Given the description of an element on the screen output the (x, y) to click on. 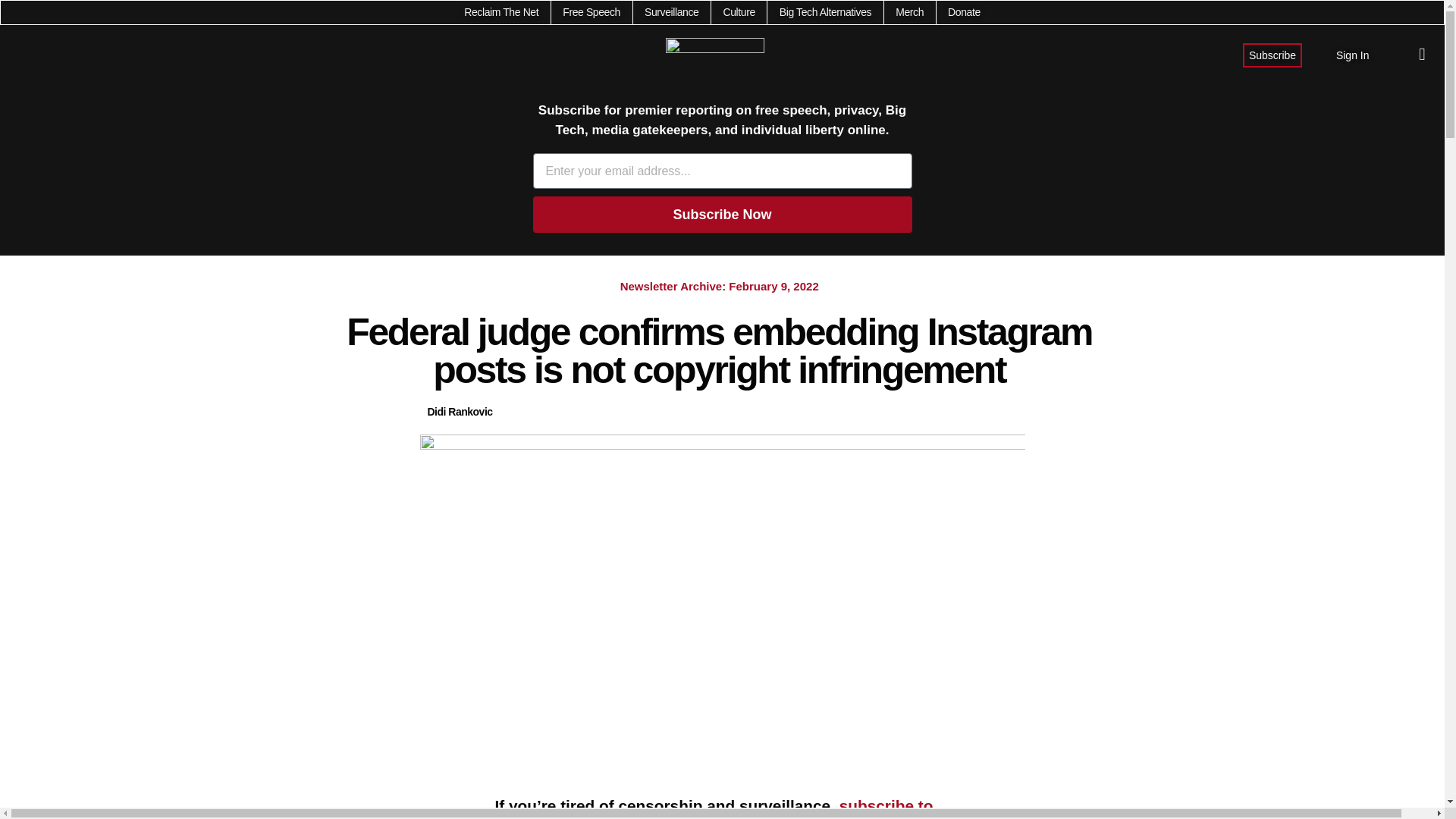
Subscribe (1272, 55)
Subscribe Now (721, 214)
Surveillance (671, 12)
Sign In (1353, 55)
Didi Rankovic (460, 412)
Culture (738, 12)
Merch (909, 12)
Reclaim The Net (501, 12)
subscribe to Reclaim The Net. (714, 807)
Donate (963, 12)
Free Speech (591, 12)
Big Tech Alternatives (824, 12)
